Given the description of an element on the screen output the (x, y) to click on. 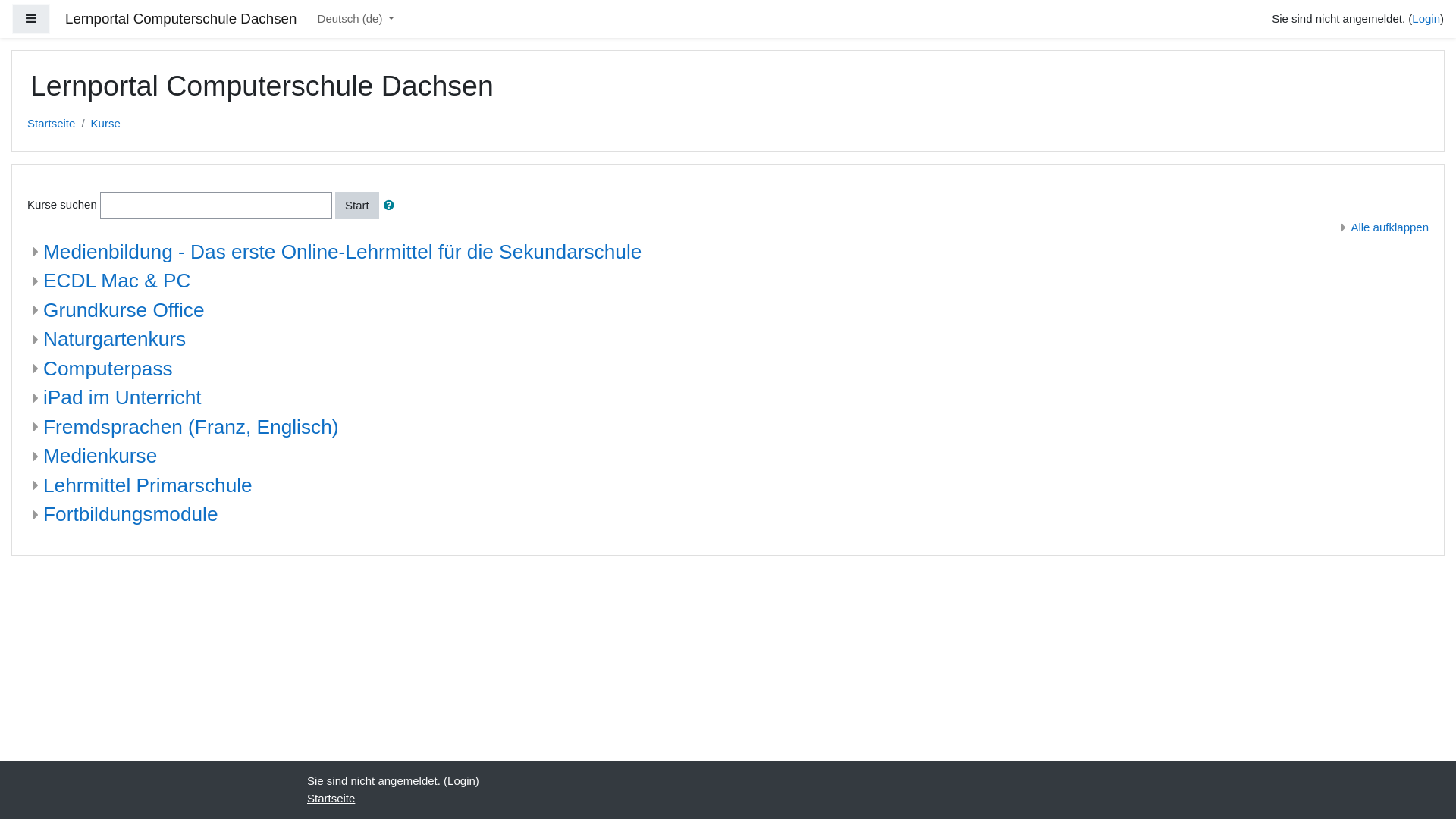
iPad im Unterricht Element type: text (122, 396)
Grundkurse Office Element type: text (123, 309)
Login Element type: text (461, 780)
Computerpass Element type: text (107, 367)
ECDL Mac & PC Element type: text (117, 280)
Startseite Element type: text (51, 123)
Deutsch (de) Element type: text (356, 19)
Alle aufklappen Element type: text (1381, 226)
Naturgartenkurs Element type: text (114, 338)
Lernportal Computerschule Dachsen Element type: text (180, 19)
Kurse Element type: text (105, 123)
Side panel Element type: text (31, 18)
Medienkurse Element type: text (99, 455)
Login Element type: text (1426, 18)
Start Element type: text (357, 205)
Lehrmittel Primarschule Element type: text (147, 484)
Fremdsprachen (Franz, Englisch) Element type: text (190, 426)
Startseite Element type: text (330, 797)
Fortbildungsmodule Element type: text (130, 513)
